Given the description of an element on the screen output the (x, y) to click on. 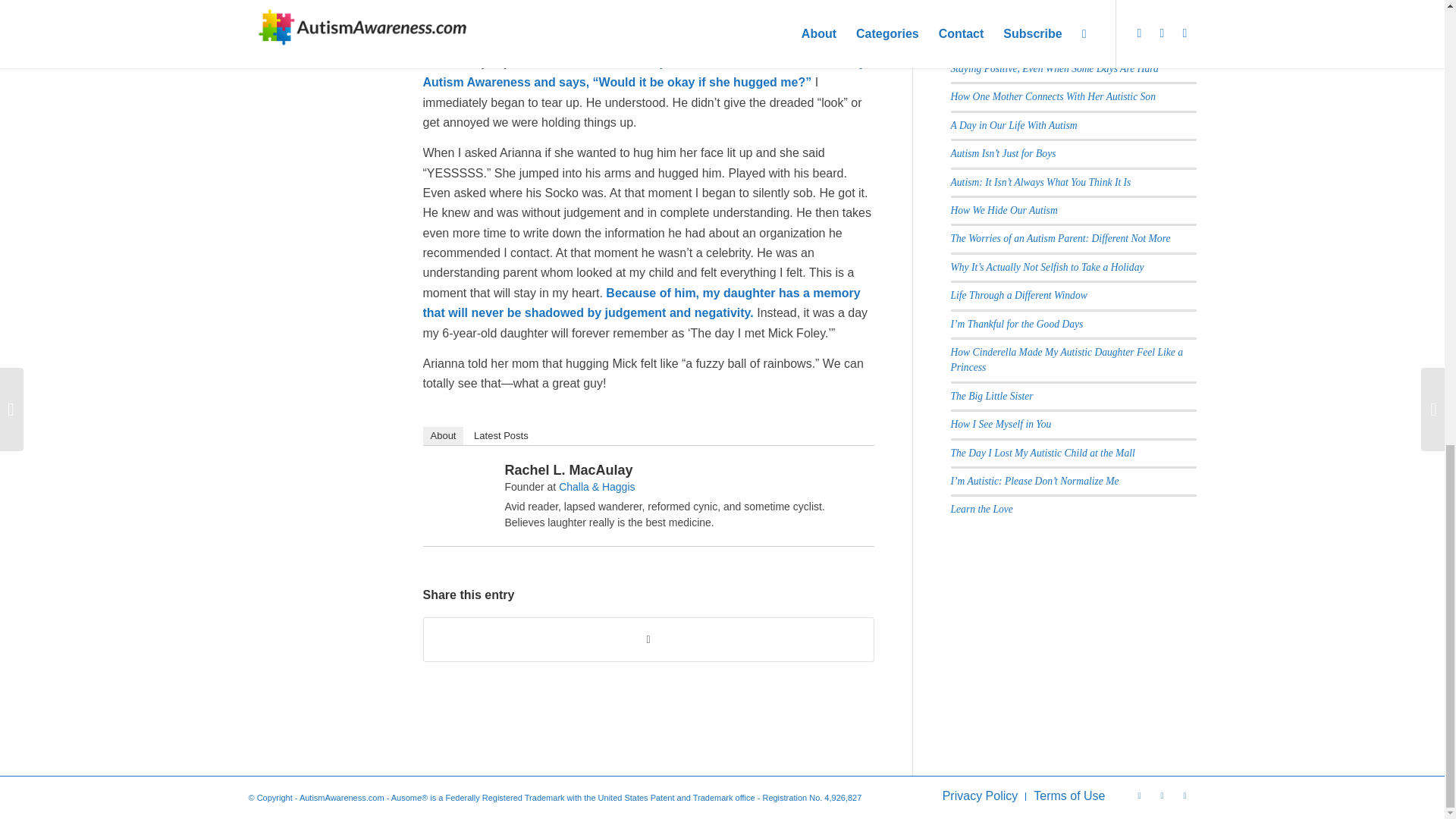
Rachel L. MacAulay (569, 469)
Twitter (1139, 794)
Rachel L. MacAulay (462, 477)
Facebook (1162, 794)
Latest Posts (500, 435)
LinkedIn (854, 473)
Instagram (1184, 794)
Twitter (835, 473)
About (443, 435)
